Given the description of an element on the screen output the (x, y) to click on. 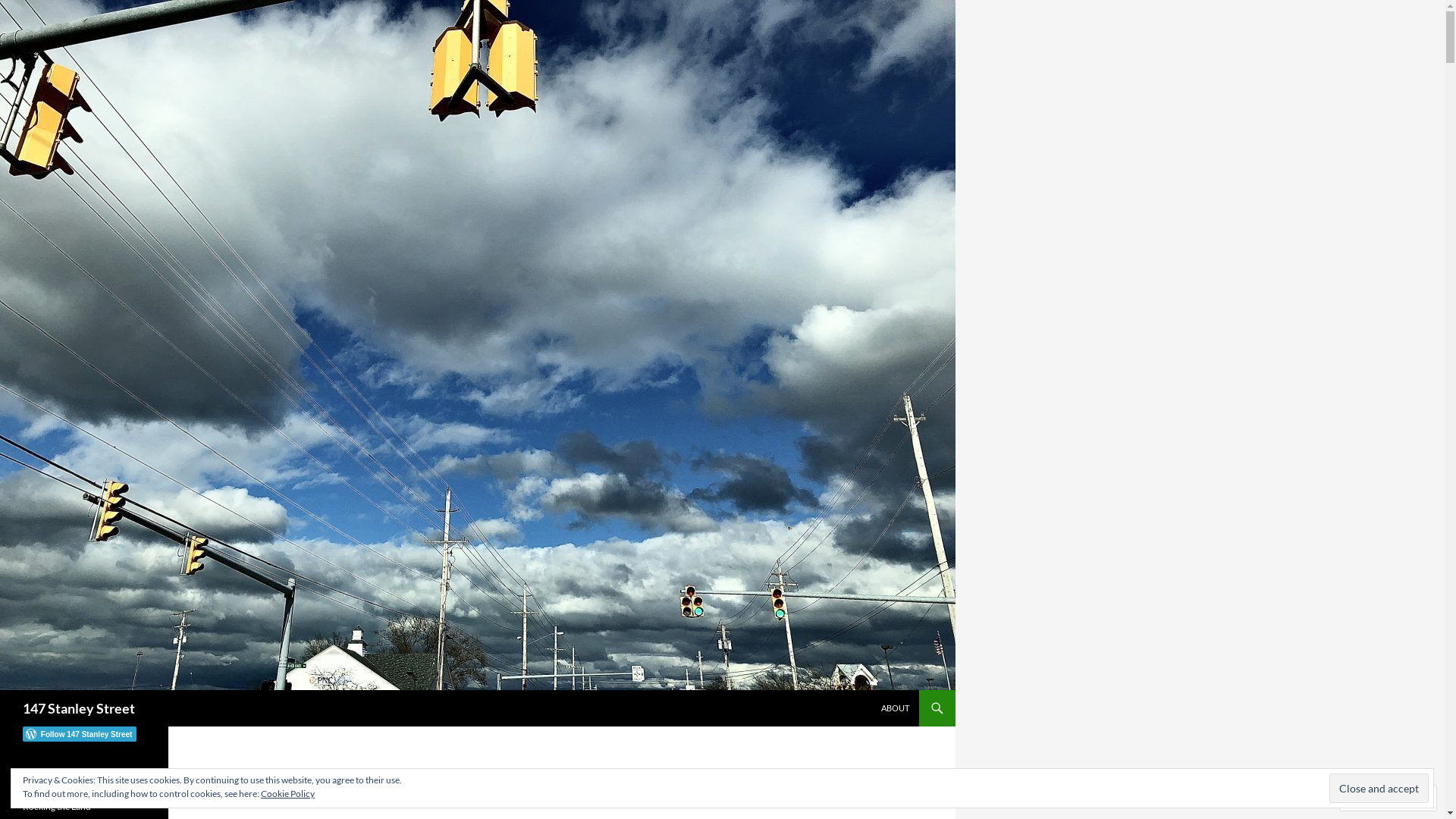
Cheap Seats Element type: text (46, 787)
Follow Button Element type: hover (83, 733)
Rocking the Land Element type: text (56, 806)
Search Element type: text (3, 689)
147 Stanley Street Element type: text (78, 708)
Cookie Policy Element type: text (287, 793)
Close and accept Element type: text (1378, 788)
ABOUT Element type: text (895, 708)
Follow Element type: text (1373, 797)
